Given the description of an element on the screen output the (x, y) to click on. 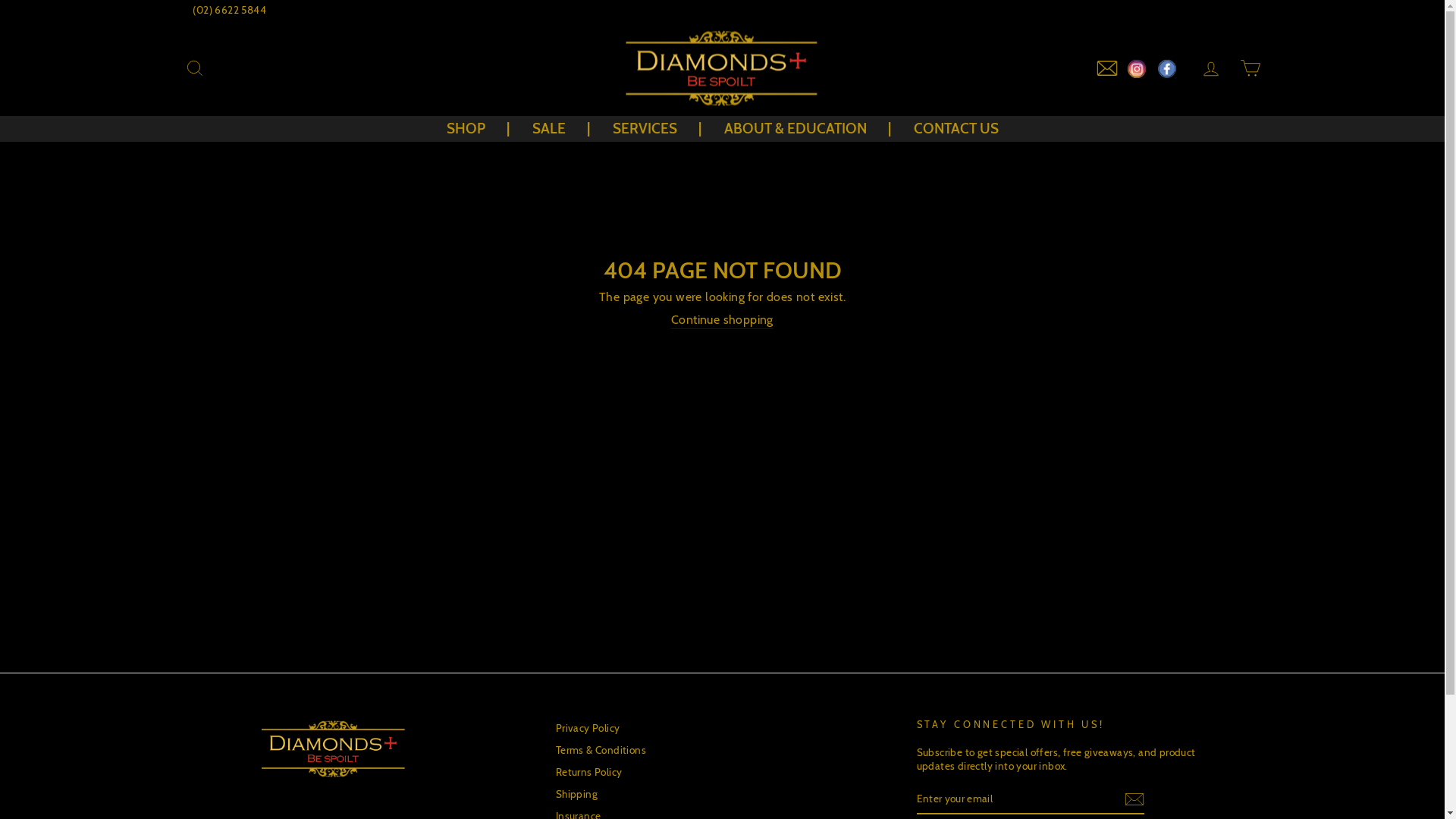
Terms & Conditions Element type: text (600, 750)
ABOUT & EDUCATION       | Element type: text (807, 128)
Privacy Policy Element type: text (587, 728)
SERVICES       | Element type: text (656, 128)
Continue shopping Element type: text (722, 320)
SALE       | Element type: text (560, 128)
Returns Policy Element type: text (588, 772)
Shipping Element type: text (576, 794)
MAIL Element type: text (1106, 67)
SEARCH Element type: text (193, 68)
LOG IN Element type: text (1210, 68)
CONTACT US Element type: text (956, 128)
CART Element type: text (1249, 68)
INSTAGRAM Element type: text (1135, 68)
SHOP       | Element type: text (477, 128)
FACEBOOK Element type: text (1166, 68)
